Given the description of an element on the screen output the (x, y) to click on. 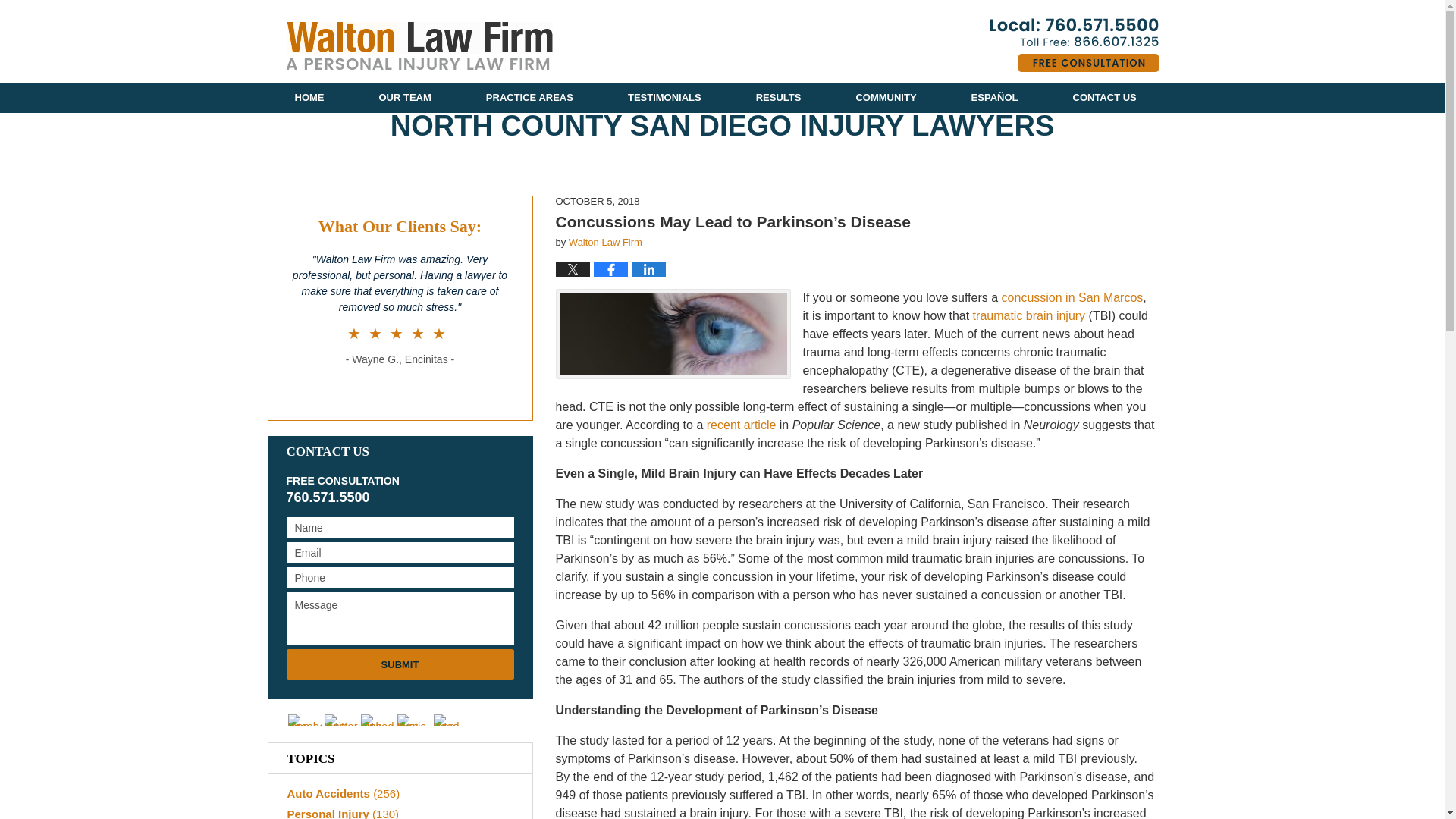
PRACTICE AREAS (528, 97)
Facebook (304, 720)
Twitter (341, 720)
Justia (414, 720)
concussion in San Marcos (1069, 297)
LinkedIn (377, 720)
RESULTS (778, 97)
NORTH COUNTY SAN DIEGO INJURY LAWYERS (721, 126)
recent article (739, 424)
OUR TEAM (405, 97)
